Given the description of an element on the screen output the (x, y) to click on. 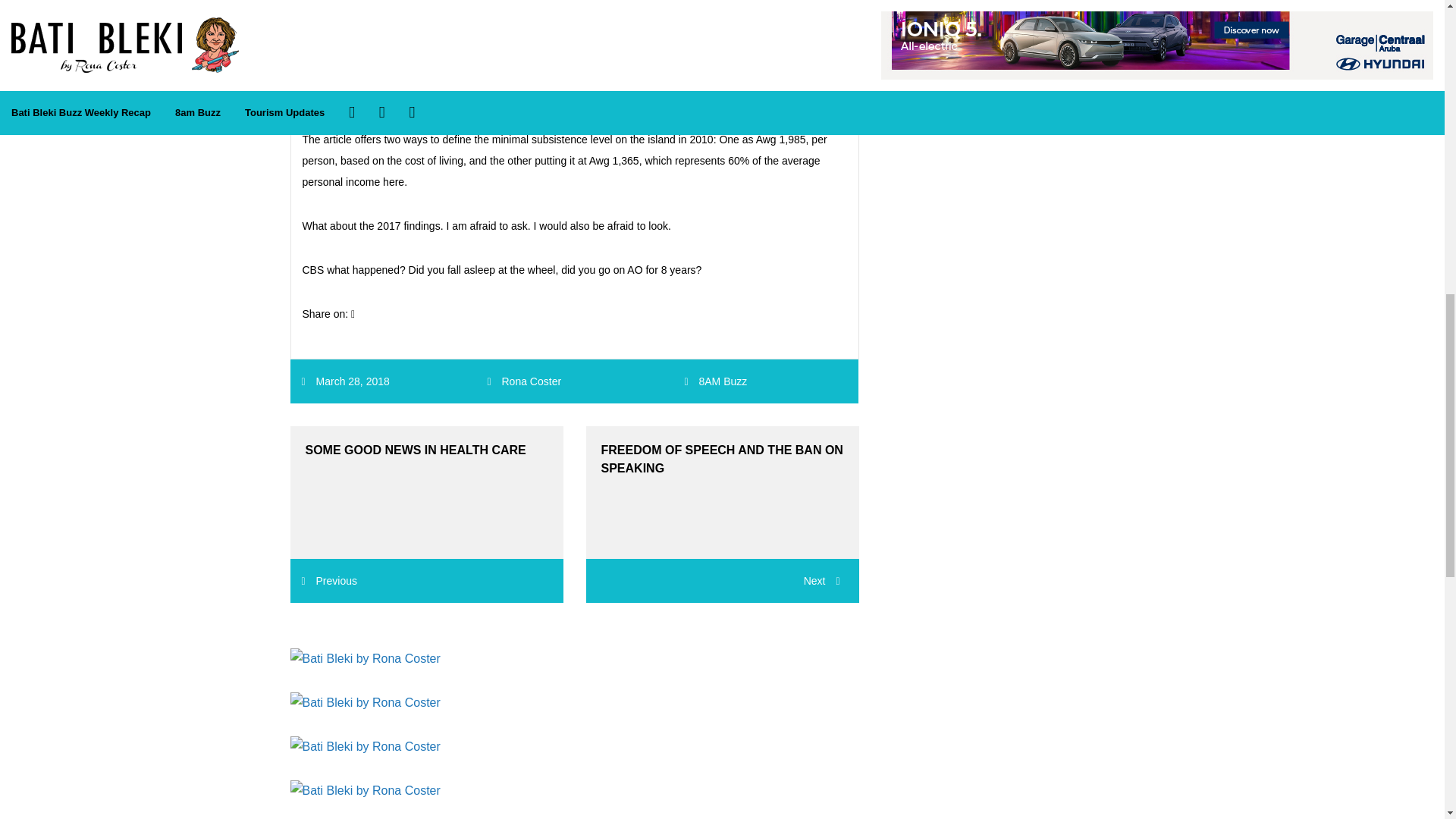
SOME GOOD NEWS IN HEALTH CARE (425, 491)
Next (721, 580)
FREEDOM OF SPEECH AND THE BAN ON SPEAKING (722, 491)
8AM Buzz (722, 381)
Share on: (328, 313)
Previous (328, 580)
